Given the description of an element on the screen output the (x, y) to click on. 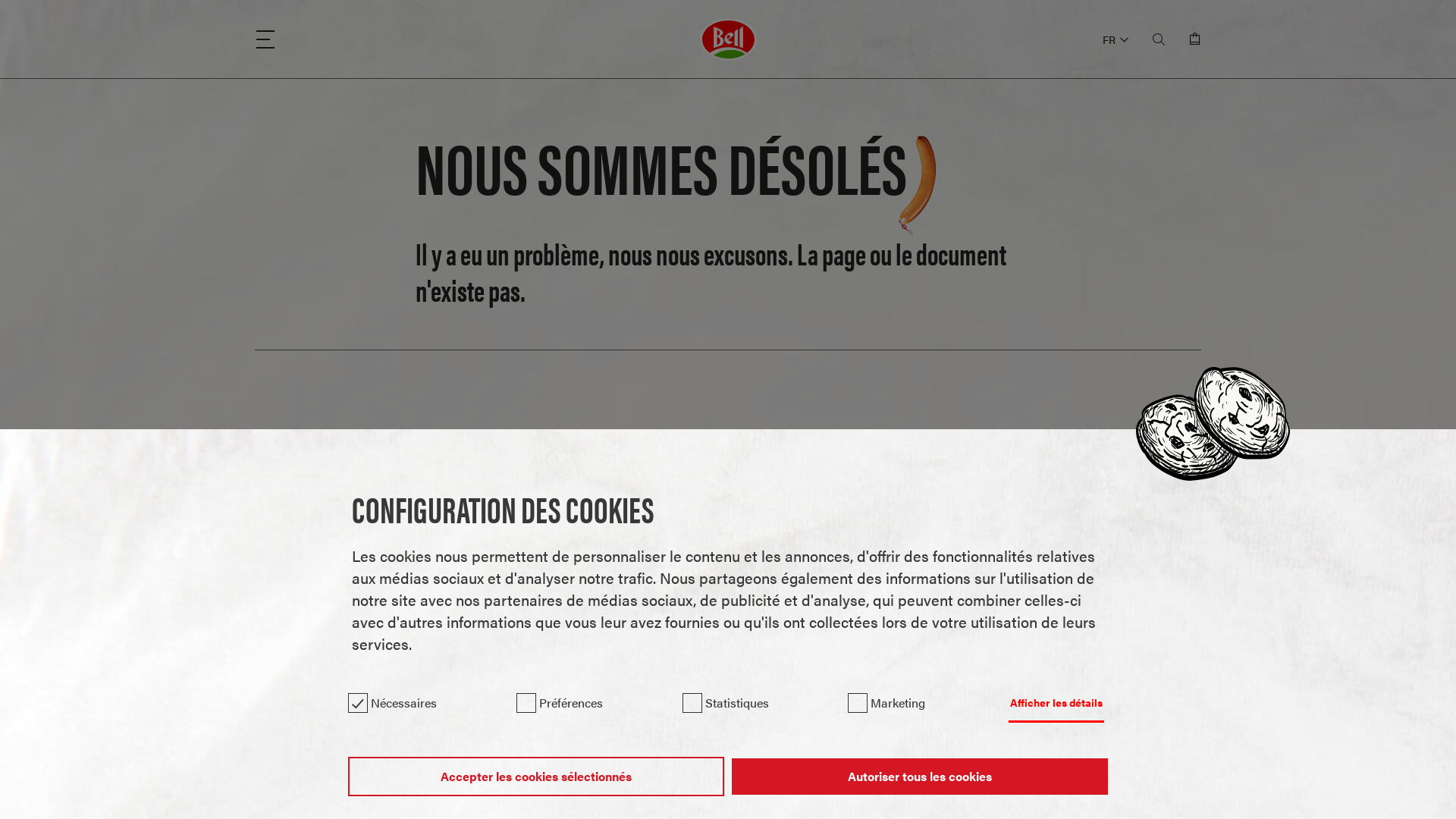
Vers la page d'accueil Element type: text (513, 503)
Recherche Element type: text (728, 503)
Autoriser tous les cookies Element type: text (919, 776)
FR Element type: text (1115, 39)
Contact Element type: text (942, 503)
